Given the description of an element on the screen output the (x, y) to click on. 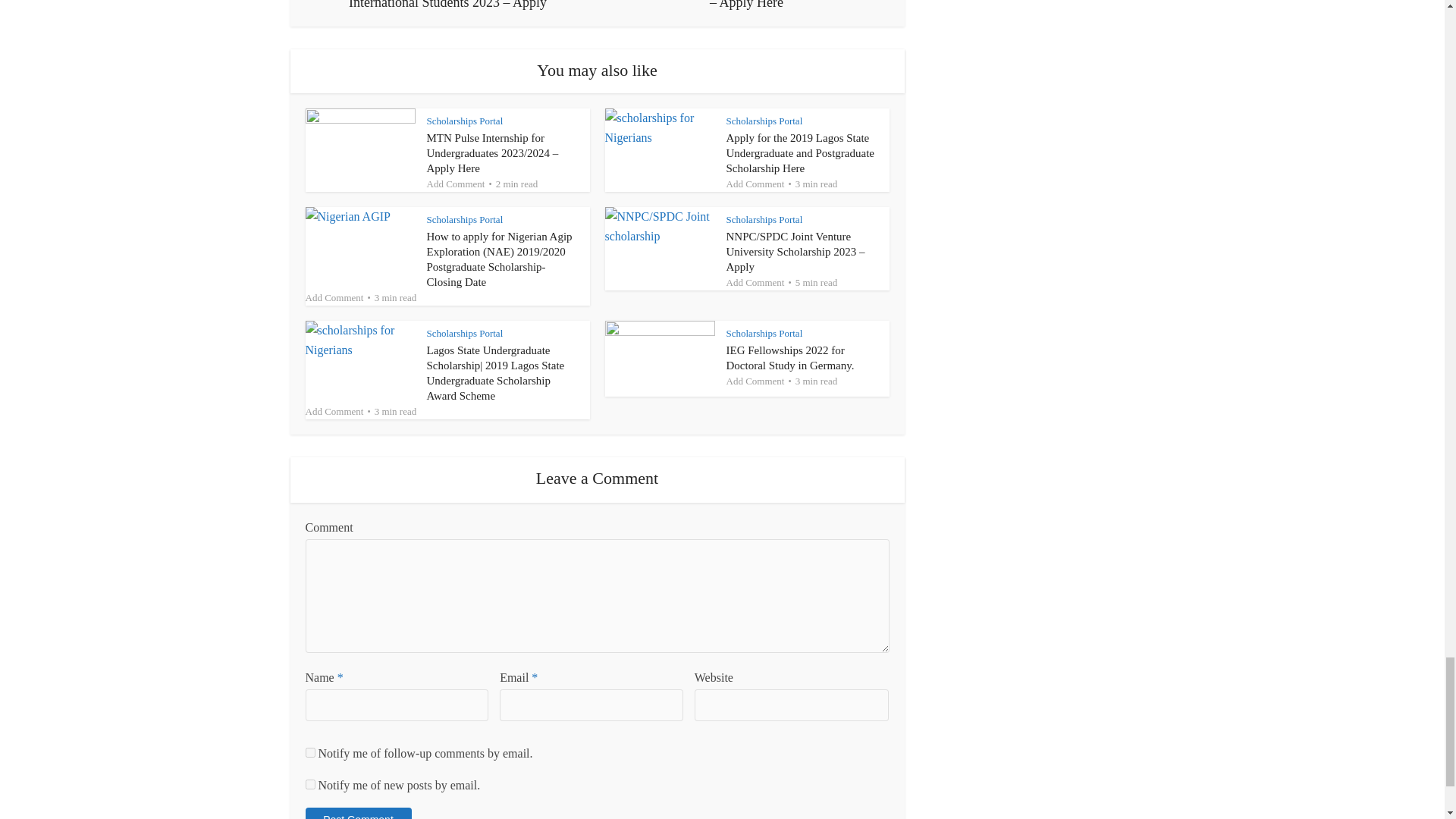
subscribe (309, 752)
Post Comment (357, 813)
subscribe (309, 784)
